Given the description of an element on the screen output the (x, y) to click on. 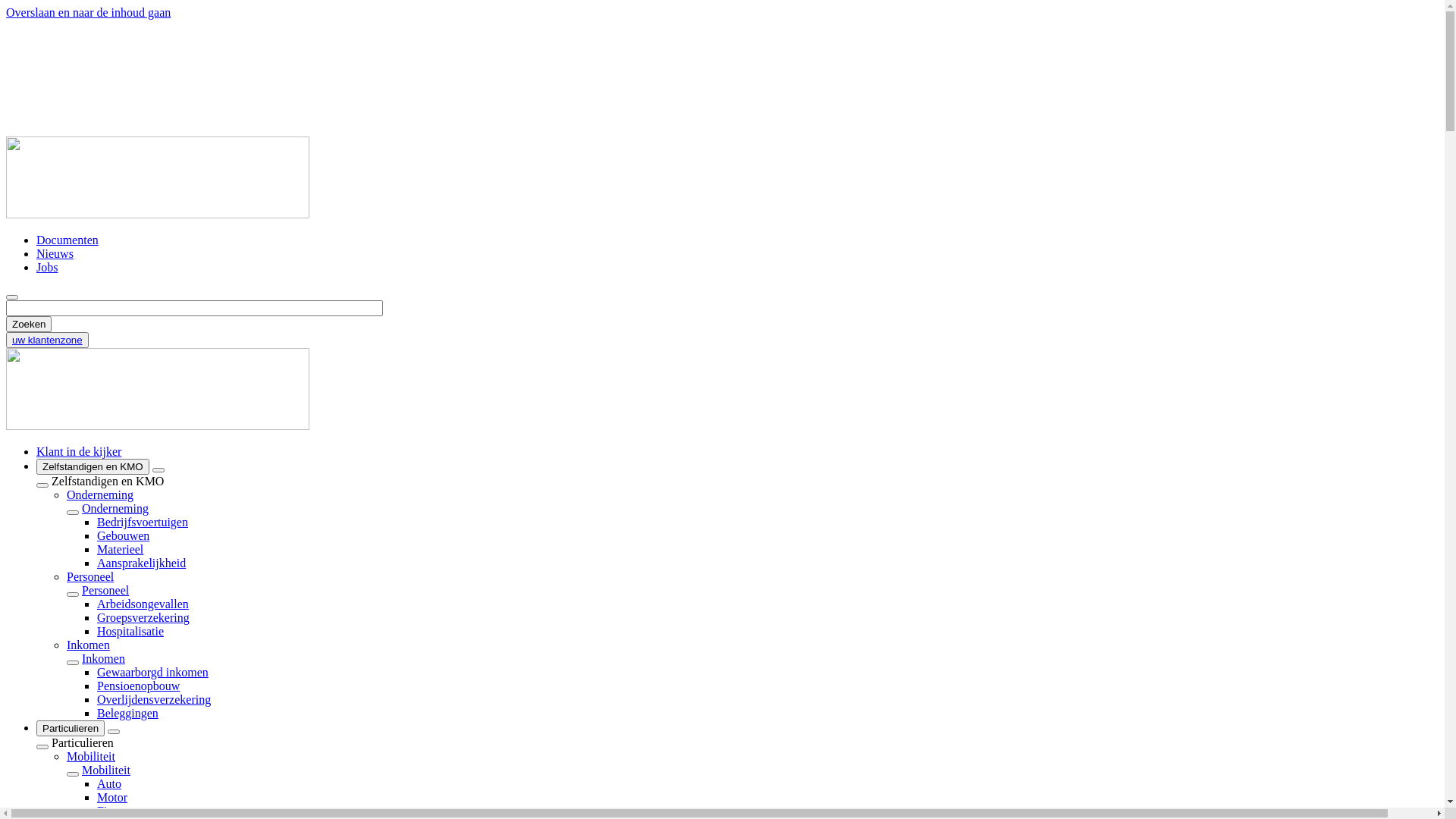
Motor Element type: text (112, 796)
Zelfstandigen en KMO Element type: text (92, 466)
Pensioenopbouw Element type: text (138, 685)
Groepsverzekering Element type: text (143, 617)
Personeel Element type: text (104, 589)
Arbeidsongevallen Element type: text (142, 603)
Personeel Element type: text (89, 576)
Mobiliteit Element type: text (105, 769)
Onderneming Element type: text (114, 508)
Fiets Element type: text (108, 810)
Jobs Element type: text (46, 266)
Documenten Element type: text (67, 239)
Particulieren Element type: text (70, 728)
Overslaan en naar de inhoud gaan Element type: text (88, 12)
Klant in de kijker Element type: text (78, 451)
Onderneming Element type: text (99, 494)
Mobiliteit Element type: text (90, 755)
Aansprakelijkheid Element type: text (141, 562)
Auto Element type: text (109, 783)
uw klantenzone Element type: text (47, 339)
Inkomen Element type: text (103, 658)
Zoeken Element type: text (28, 324)
Inkomen Element type: text (87, 644)
Overlijdensverzekering Element type: text (153, 699)
Gewaarborgd inkomen Element type: text (152, 671)
Beleggingen Element type: text (127, 712)
Nieuws Element type: text (54, 253)
Bedrijfsvoertuigen Element type: text (142, 521)
Gebouwen Element type: text (123, 535)
Materieel Element type: text (120, 548)
Hospitalisatie Element type: text (130, 630)
uw klantenzone Element type: text (47, 340)
